Given the description of an element on the screen output the (x, y) to click on. 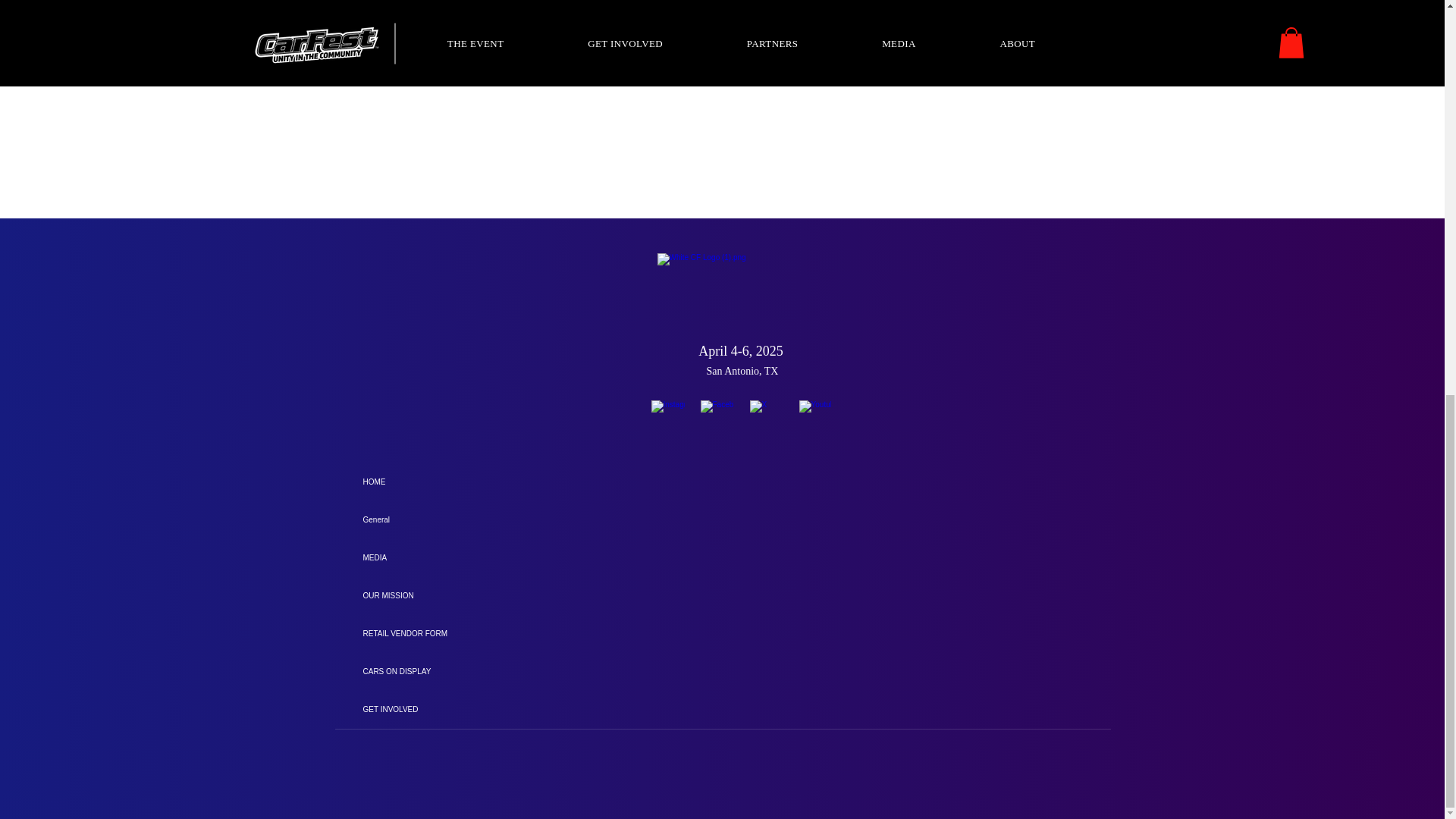
MEDIA (721, 557)
CARS ON DISPLAY (721, 671)
General (721, 519)
GET INVOLVED (721, 709)
OUR MISSION (721, 596)
RETAIL VENDOR FORM (721, 633)
HOME (721, 482)
